Given the description of an element on the screen output the (x, y) to click on. 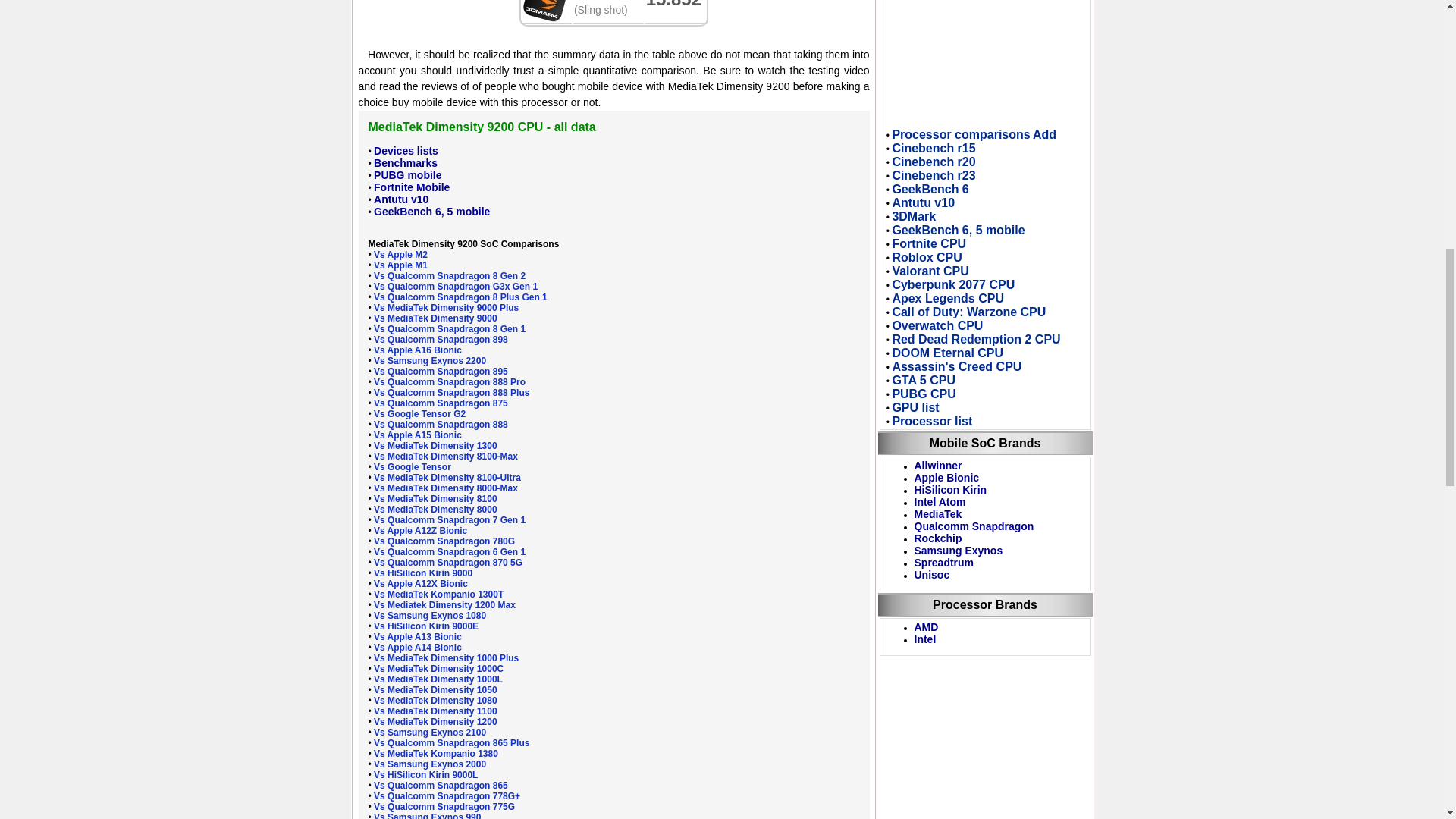
PUBG mobile (407, 174)
Vs Qualcomm Snapdragon 8 Gen 2 (449, 276)
Dimensity 9200 Antutu v10, 9 benchmark score points (401, 199)
Vs Google Tensor (412, 466)
Vs MediaTek Dimensity 8100-Max (446, 456)
Benchmarks (406, 162)
Vs HiSilicon Kirin 9000 (422, 573)
Vs Samsung Exynos 2200 (430, 360)
Vs MediaTek Dimensity 8000 (435, 509)
Dimensity 9200 3DMark (544, 11)
